Given the description of an element on the screen output the (x, y) to click on. 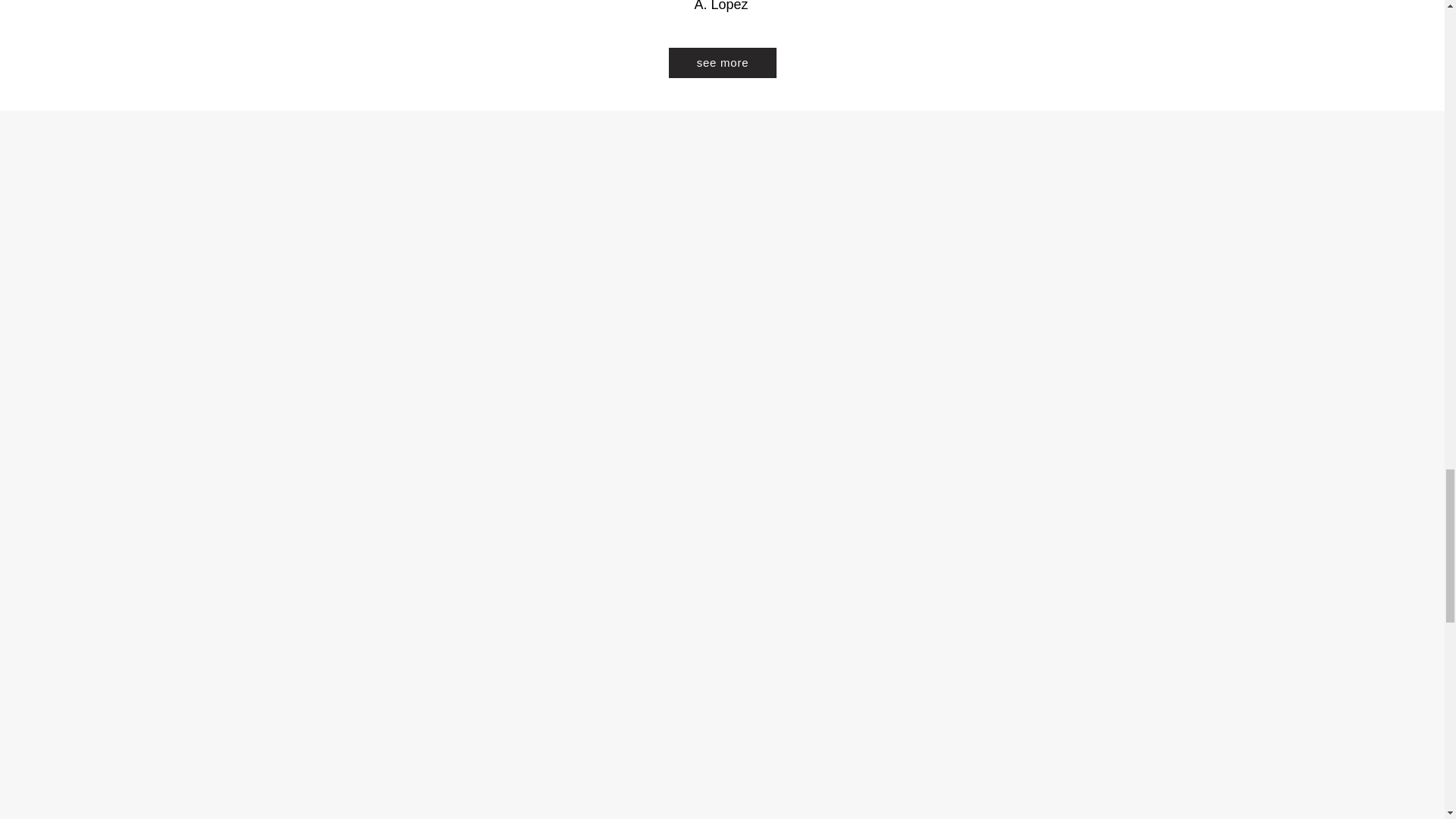
see more (722, 62)
